Given the description of an element on the screen output the (x, y) to click on. 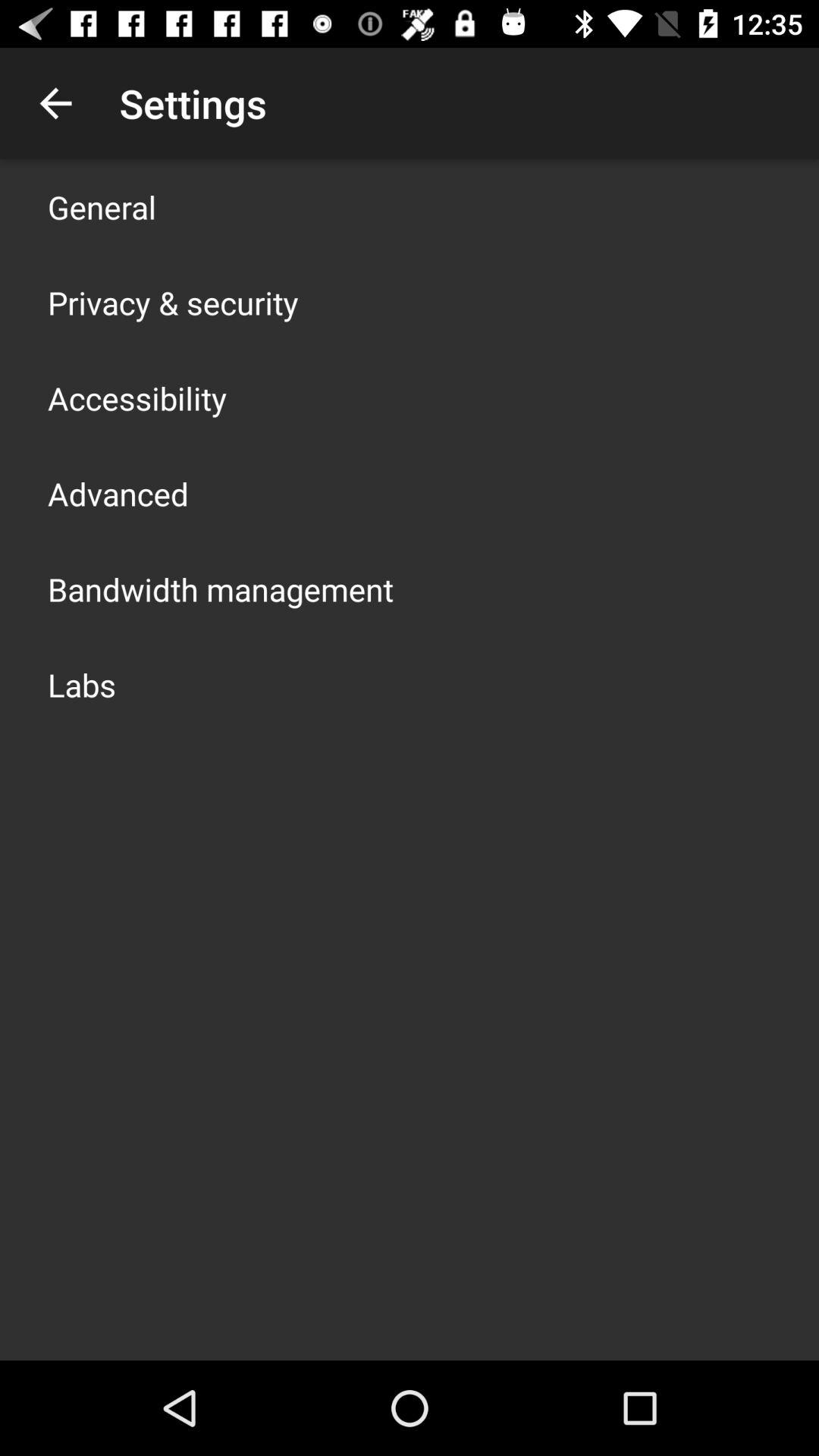
click the privacy & security (172, 302)
